Given the description of an element on the screen output the (x, y) to click on. 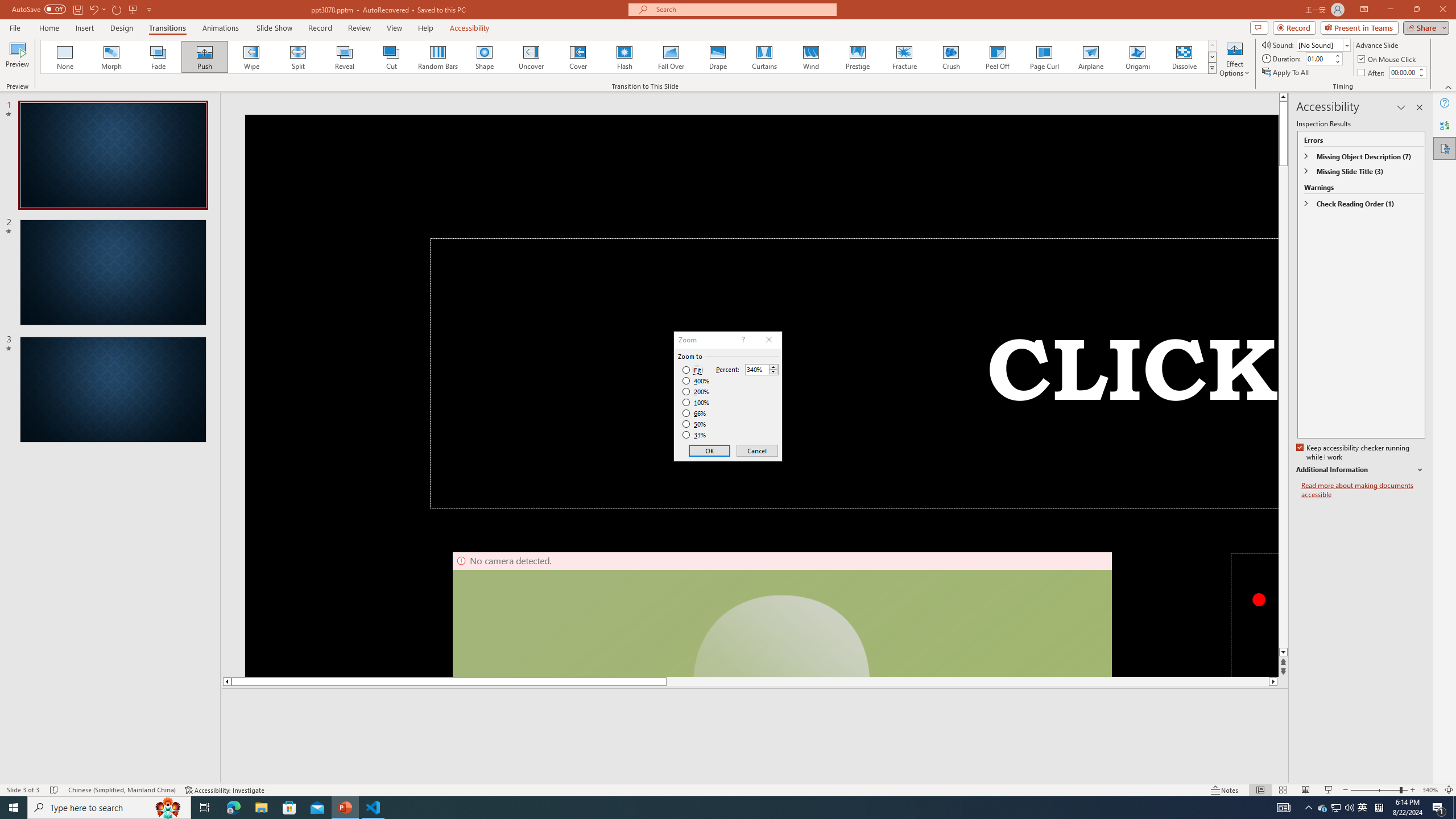
Flash (624, 56)
Drape (717, 56)
Percent (756, 369)
